Given the description of an element on the screen output the (x, y) to click on. 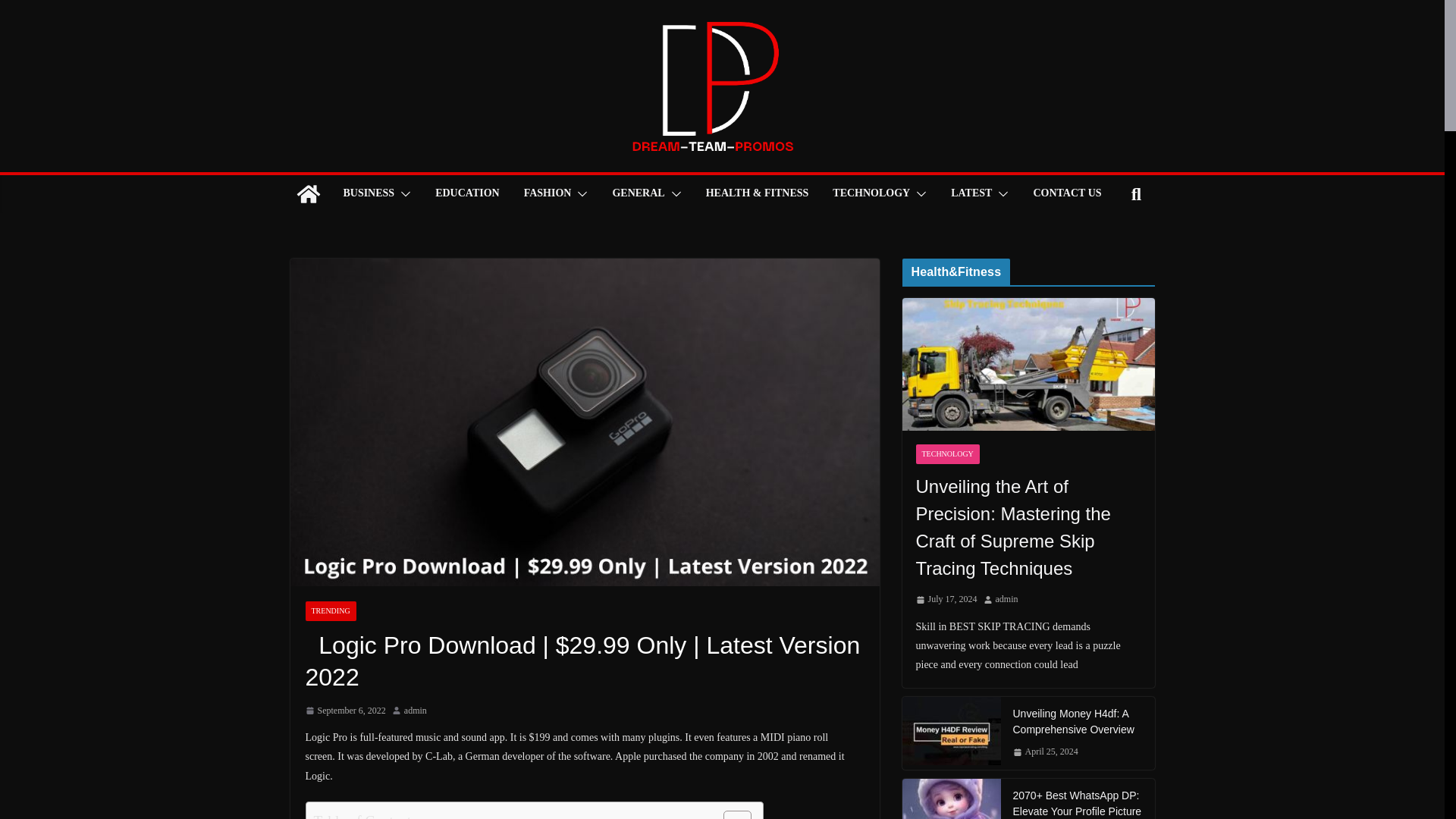
September 6, 2022 (344, 710)
admin (415, 710)
BUSINESS (368, 193)
2:21 pm (344, 710)
CONTACT US (1066, 193)
GENERAL (637, 193)
TRENDING (329, 610)
TECHNOLOGY (871, 193)
EDUCATION (467, 193)
admin (415, 710)
LATEST (970, 193)
FASHION (548, 193)
